Given the description of an element on the screen output the (x, y) to click on. 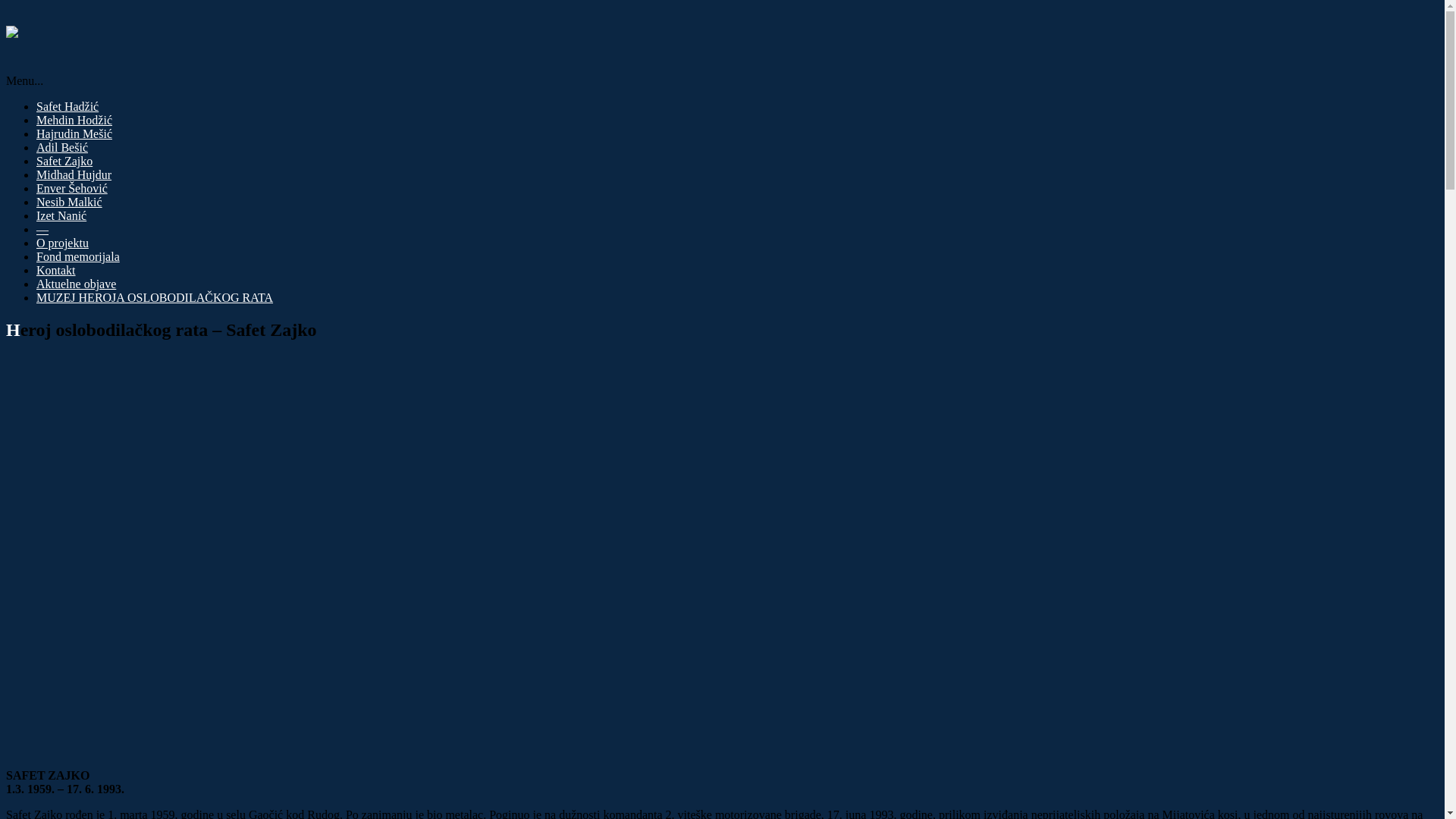
Fond memorijala Element type: text (77, 256)
Aktuelne objave Element type: text (76, 283)
Safet Zajko Element type: text (64, 160)
Midhad Hujdur Element type: text (73, 174)
Kontakt Element type: text (55, 269)
O projektu Element type: text (62, 242)
